Given the description of an element on the screen output the (x, y) to click on. 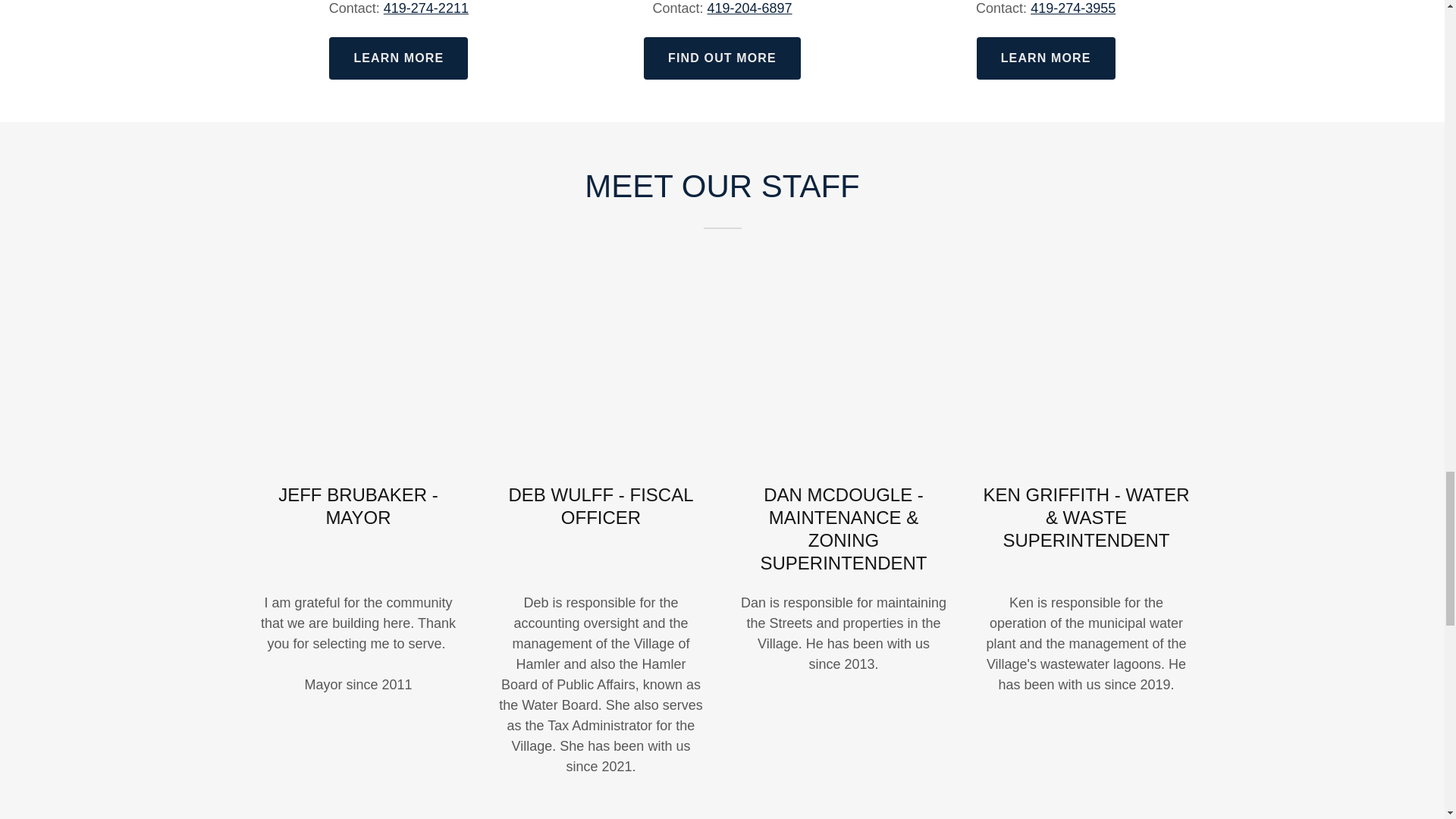
419-204-6897 (749, 7)
419-274-3955 (1072, 7)
LEARN MORE (1045, 57)
FIND OUT MORE (721, 57)
419-274-2211 (426, 7)
LEARN MORE (398, 57)
